Given the description of an element on the screen output the (x, y) to click on. 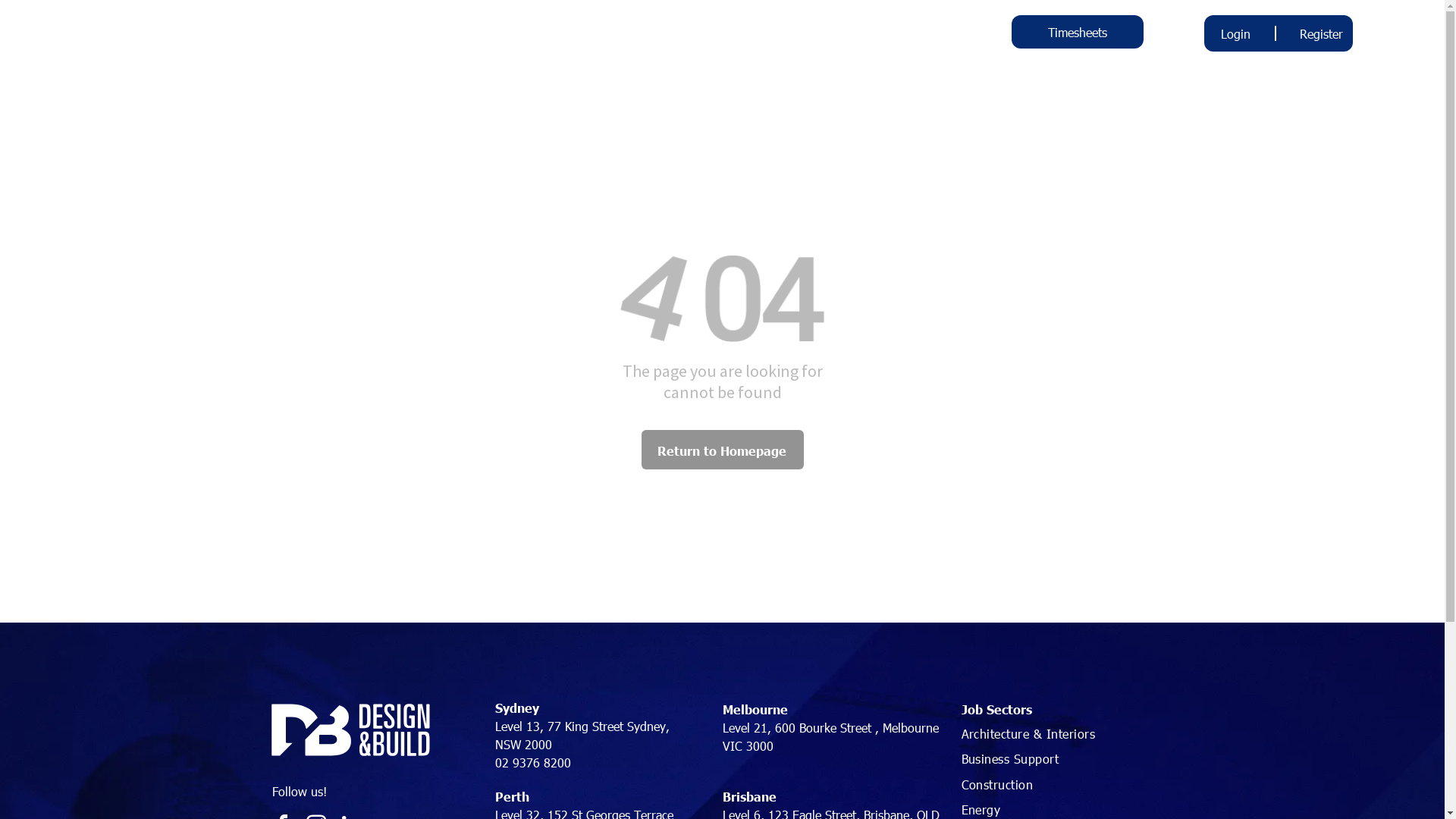
Construction Element type: text (1063, 783)
Sydney Element type: text (516, 707)
Job Seekers Element type: text (645, 35)
Register Element type: text (1320, 33)
Clients Element type: text (553, 35)
Architecture & Interiors Element type: text (1063, 732)
Perth Element type: text (511, 795)
NSW 2000 Element type: text (522, 744)
Timesheets Element type: text (1077, 31)
Insights Element type: text (739, 35)
Level 21, 600 Bourke Street , Melbourne Element type: text (829, 727)
About Us Element type: text (470, 35)
VIC 3000 Element type: text (746, 745)
Business Support Element type: text (1063, 757)
Melbourne Element type: text (754, 708)
Level 13, 77 King Street Sydney, Element type: text (581, 726)
Brisbane Element type: text (748, 795)
Login Element type: text (1235, 33)
Return to Homepage Element type: text (722, 449)
